Given the description of an element on the screen output the (x, y) to click on. 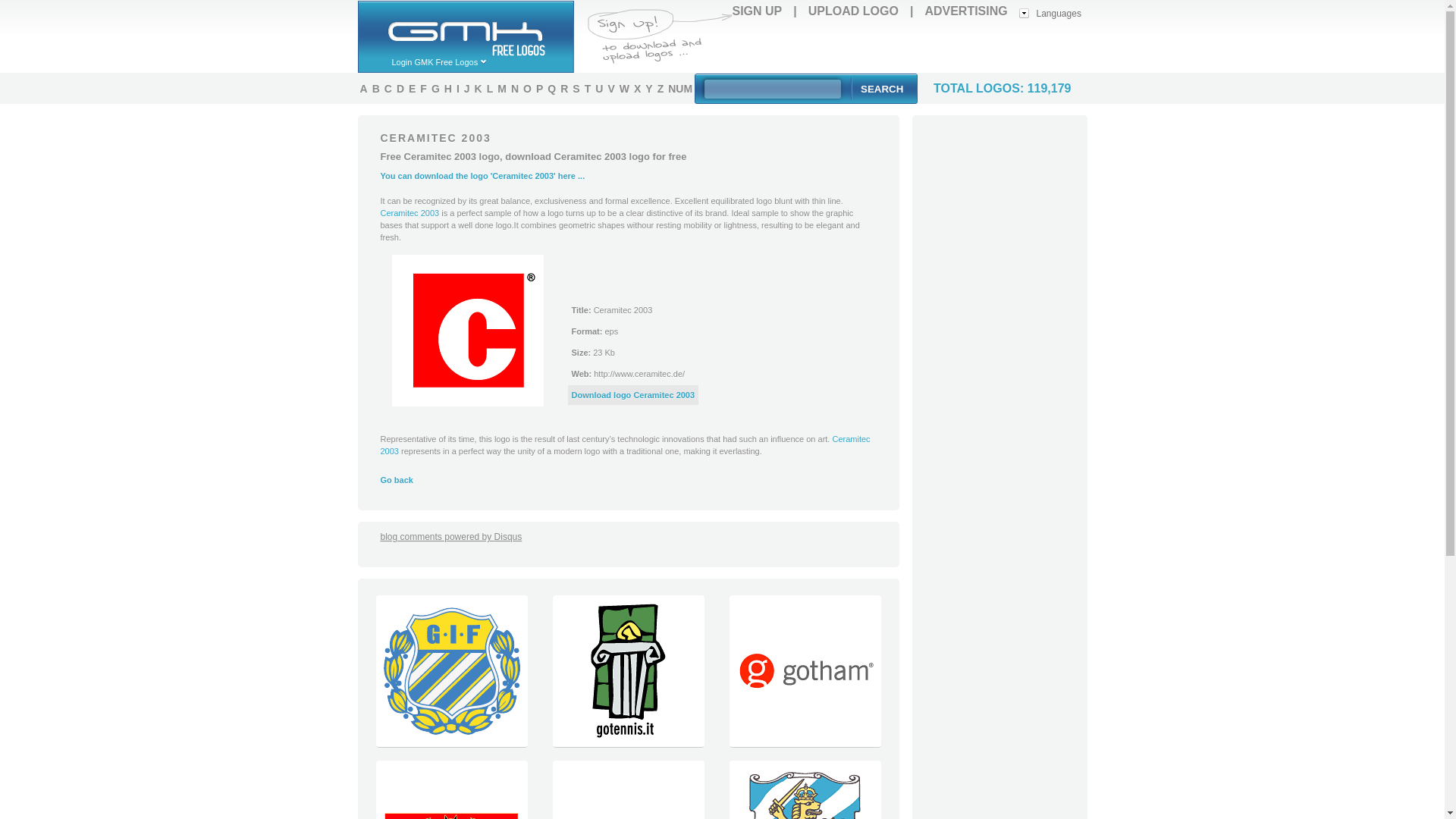
Search (881, 88)
ADVERTISING (965, 10)
SIGN UP (757, 10)
Ceramitec 2003 (409, 212)
Download Logo Gotene IF (450, 743)
UPLOAD LOGO (853, 10)
Languages (1050, 12)
Advertisement (909, 46)
Login GMK Free Logos (446, 61)
Go back (396, 479)
